Given the description of an element on the screen output the (x, y) to click on. 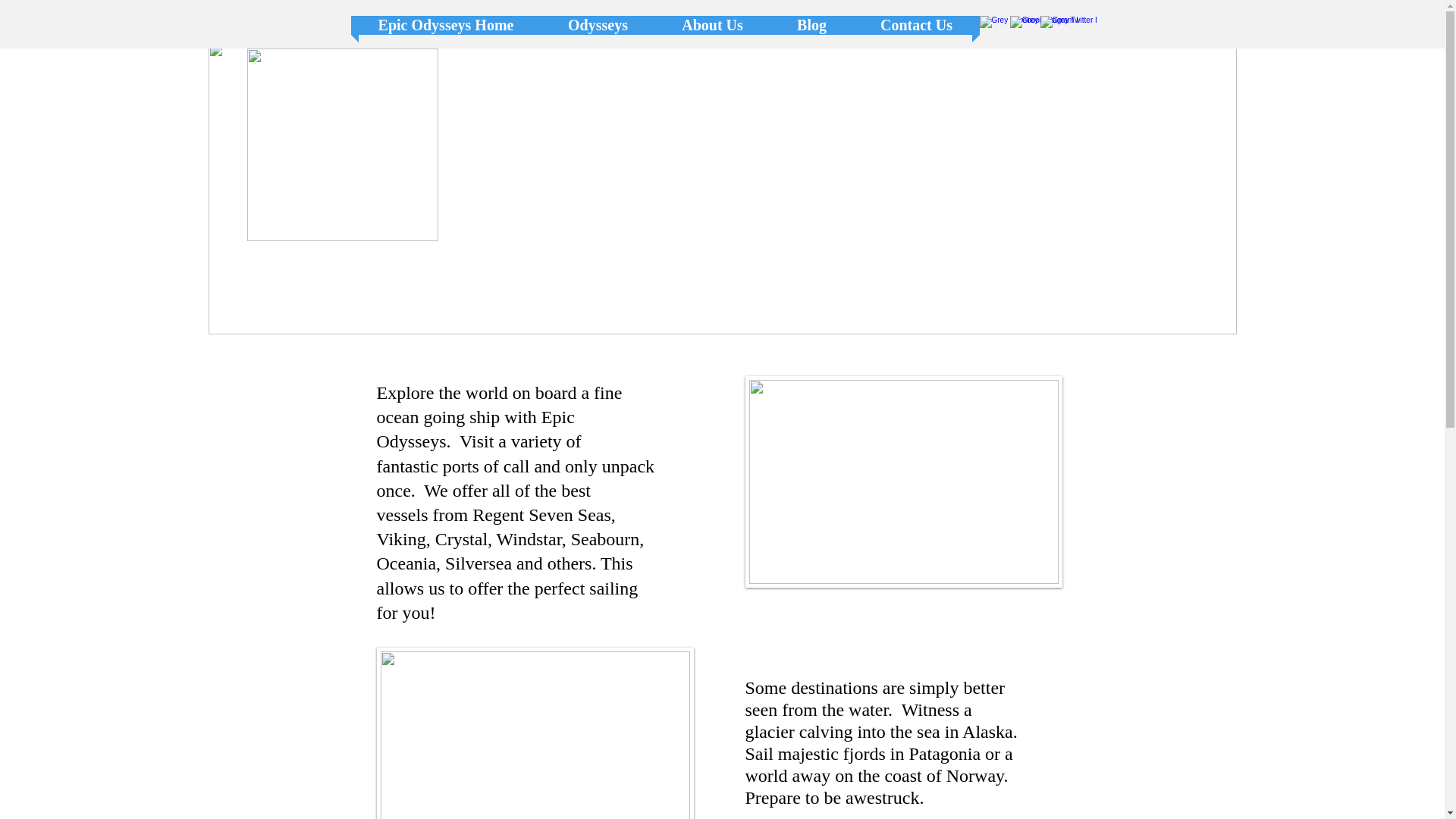
Blog (811, 25)
Epic Odysseys Home (445, 25)
Contact Us (916, 25)
About Us (712, 25)
